Given the description of an element on the screen output the (x, y) to click on. 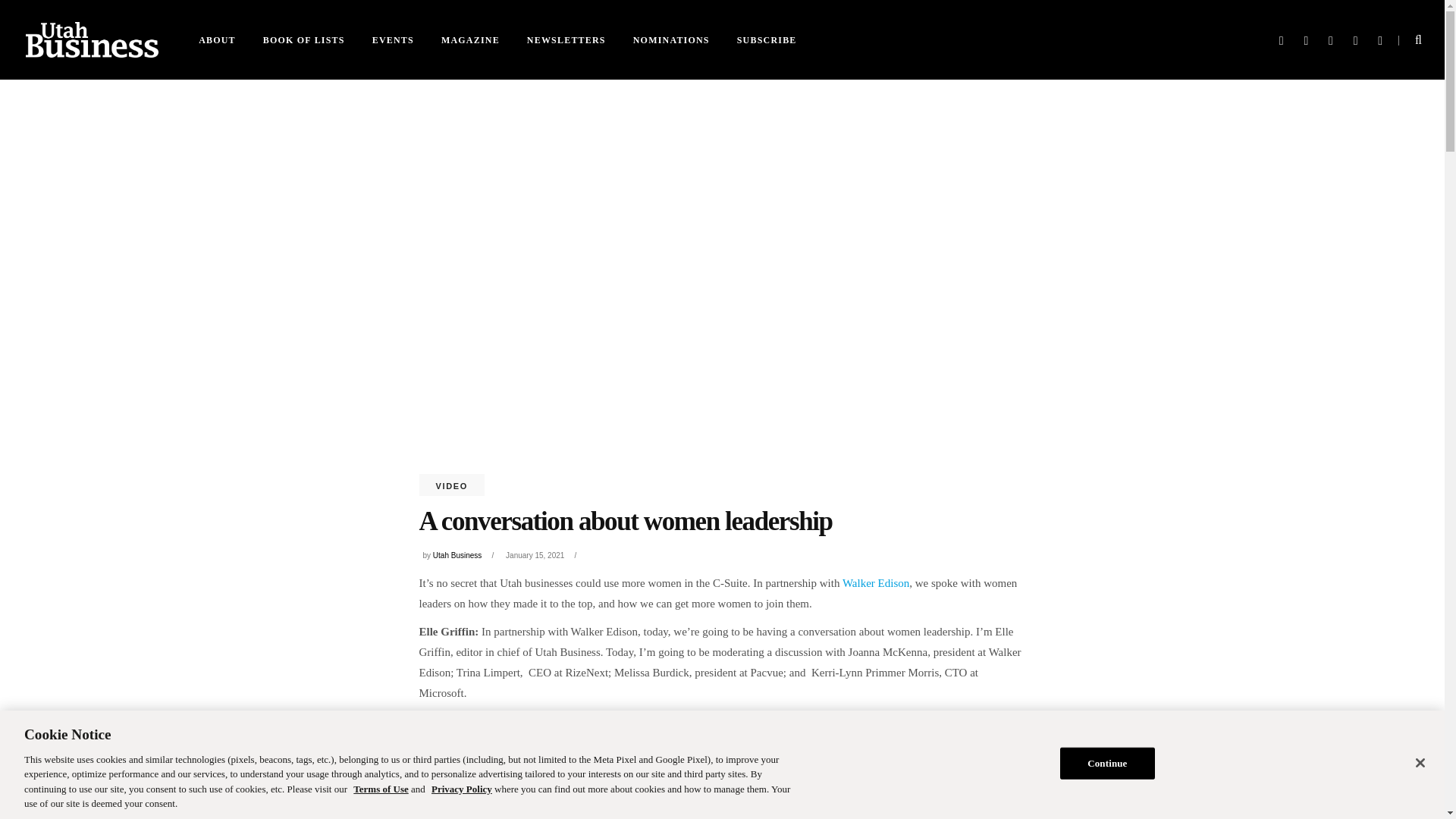
MAGAZINE (470, 39)
NEWSLETTERS (566, 39)
BOOK OF LISTS (303, 39)
VIDEO (451, 485)
January 15, 2021 (534, 555)
SUBSCRIBE (766, 39)
Utah Business (456, 555)
NOMINATIONS (671, 39)
Walker Edison (875, 582)
